Given the description of an element on the screen output the (x, y) to click on. 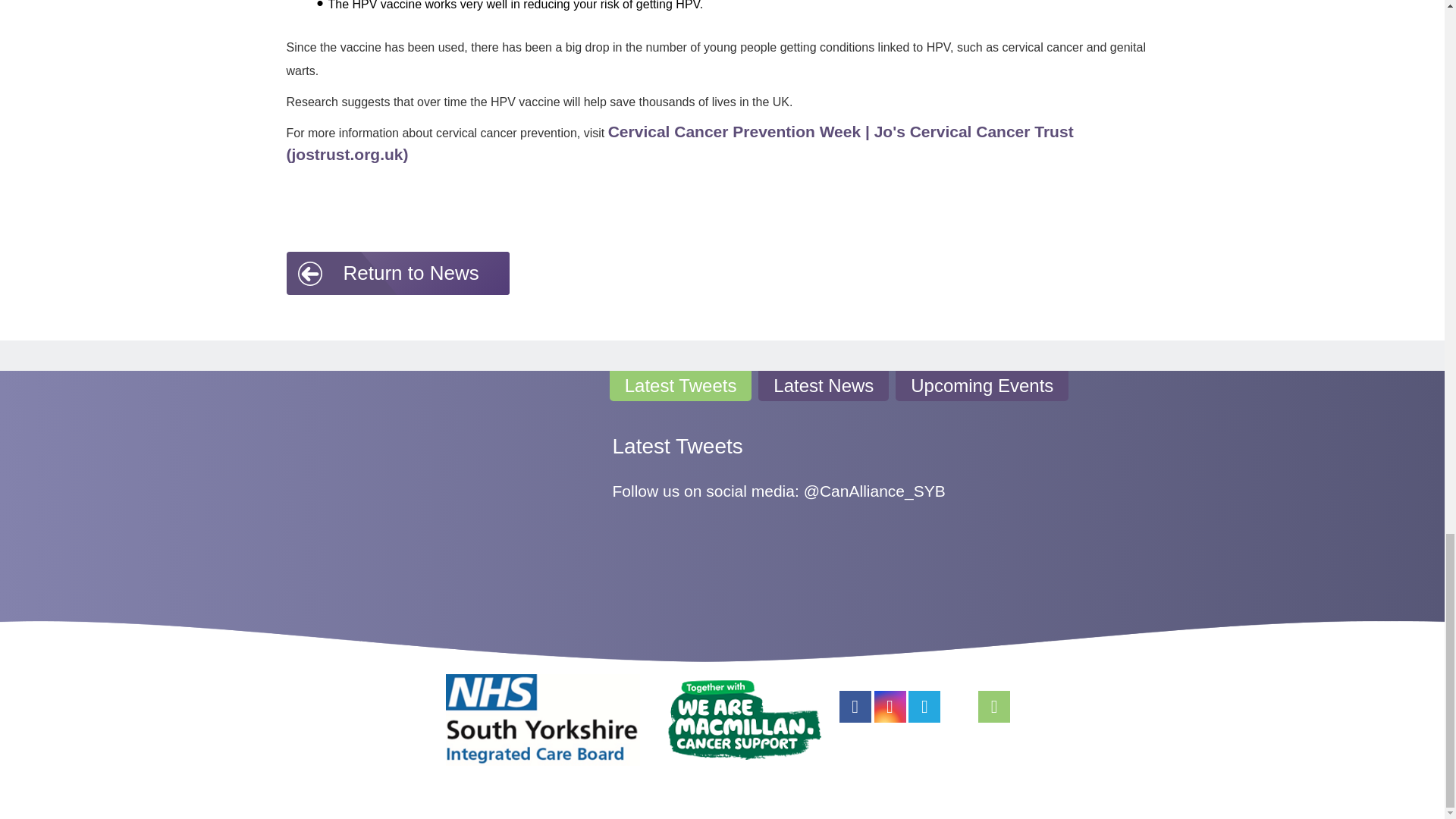
Facebook (855, 706)
Twitter (924, 706)
Macmillan (744, 719)
Email SYBND Cancer Alliance (994, 706)
Instagram (889, 706)
Health and Care Together SYB (541, 720)
LinkedIn (959, 706)
